Given the description of an element on the screen output the (x, y) to click on. 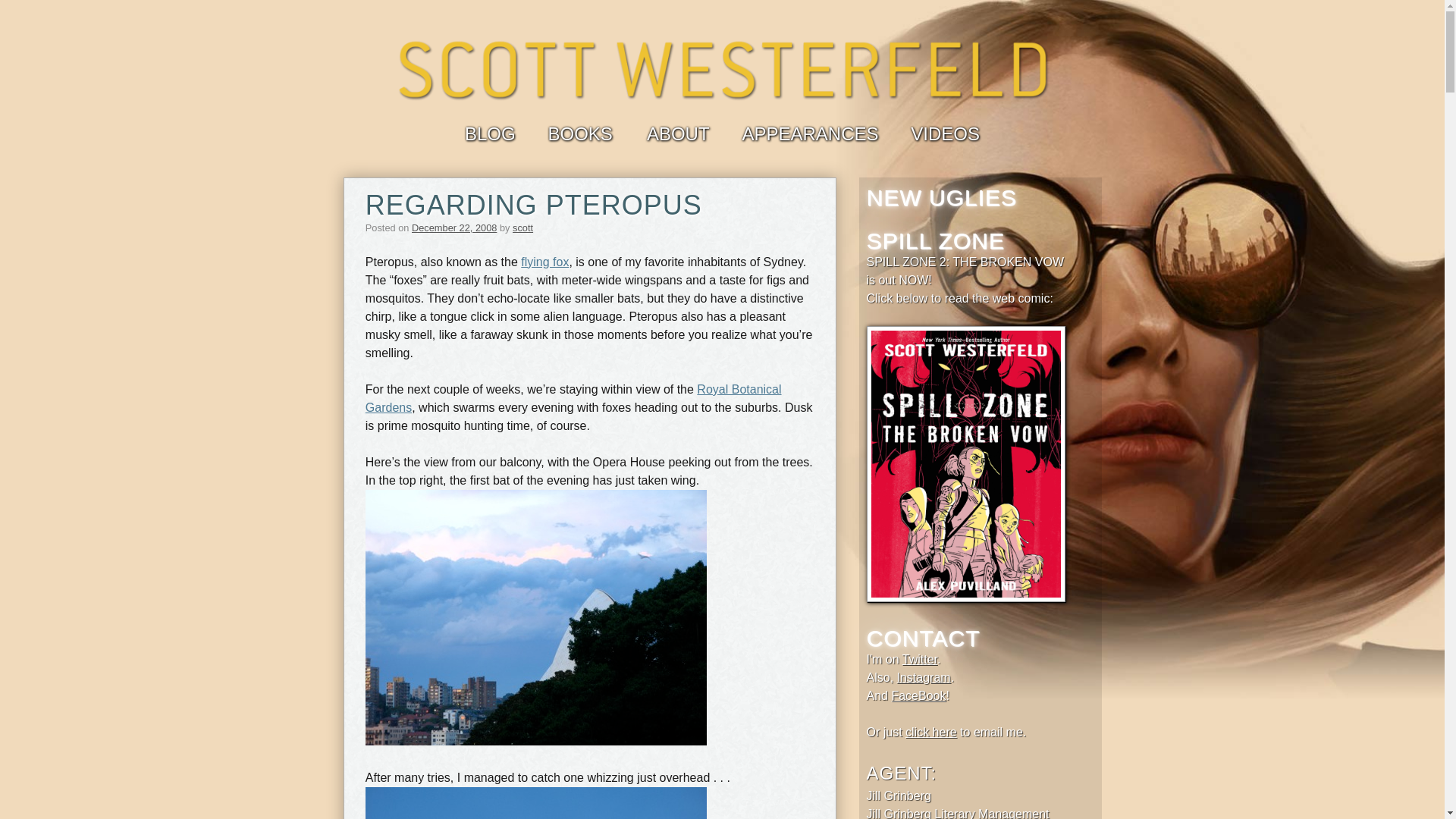
December 22, 2008 (454, 227)
BLOG (489, 134)
VIDEOS (945, 134)
scott (522, 227)
APPEARANCES (809, 134)
BOOKS (579, 134)
ABOUT (677, 134)
foxsmall (535, 803)
Royal Botanical Gardens (573, 398)
